Given the description of an element on the screen output the (x, y) to click on. 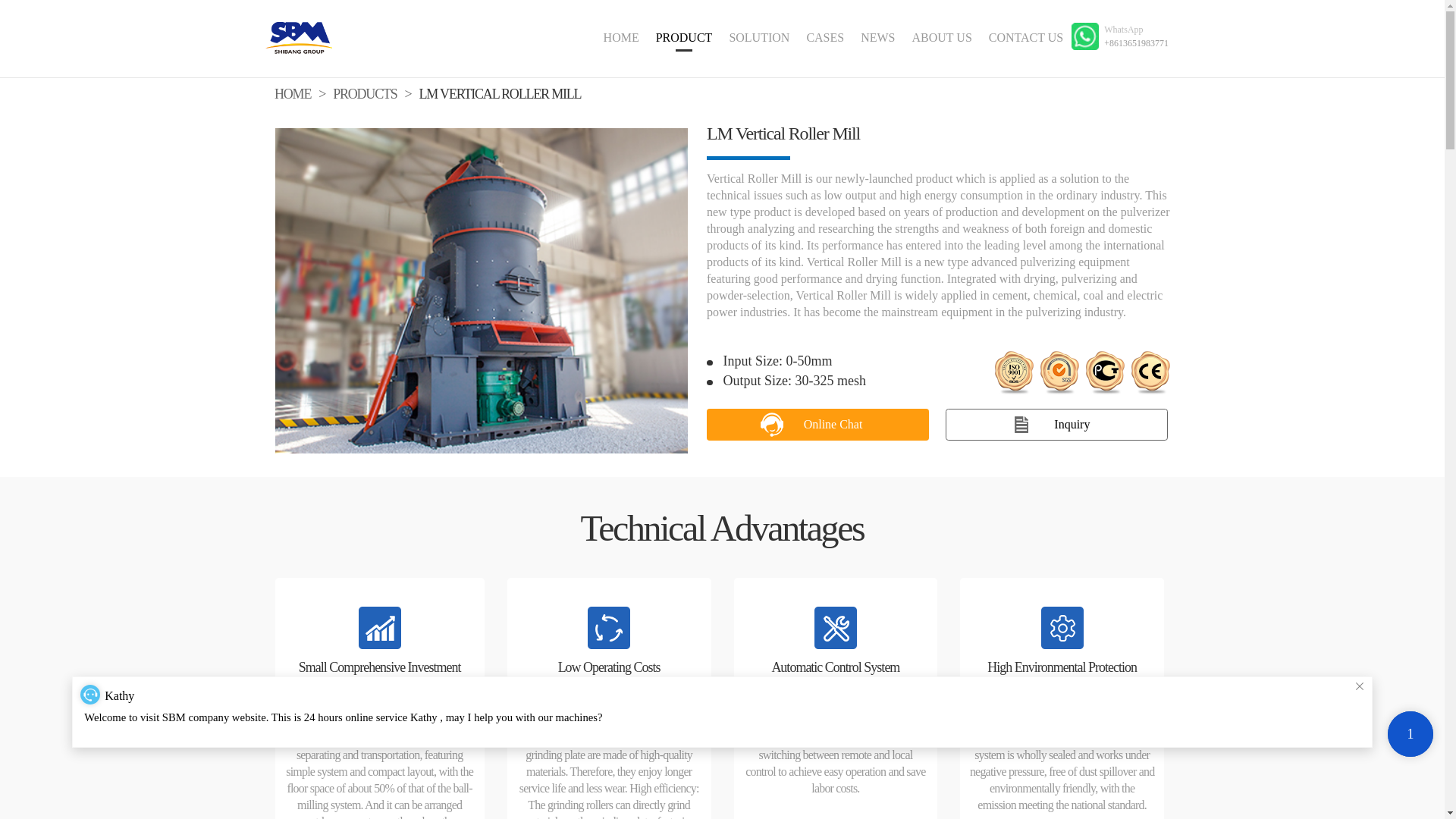
NEWS (877, 35)
PRODUCTS (364, 93)
HOME (293, 93)
CASES (824, 35)
HOME (621, 35)
PRODUCT (684, 35)
SOLUTION (759, 35)
Inquiry (1055, 424)
CONTACT US (1026, 35)
ABOUT US (941, 35)
Online Chat (817, 424)
